Given the description of an element on the screen output the (x, y) to click on. 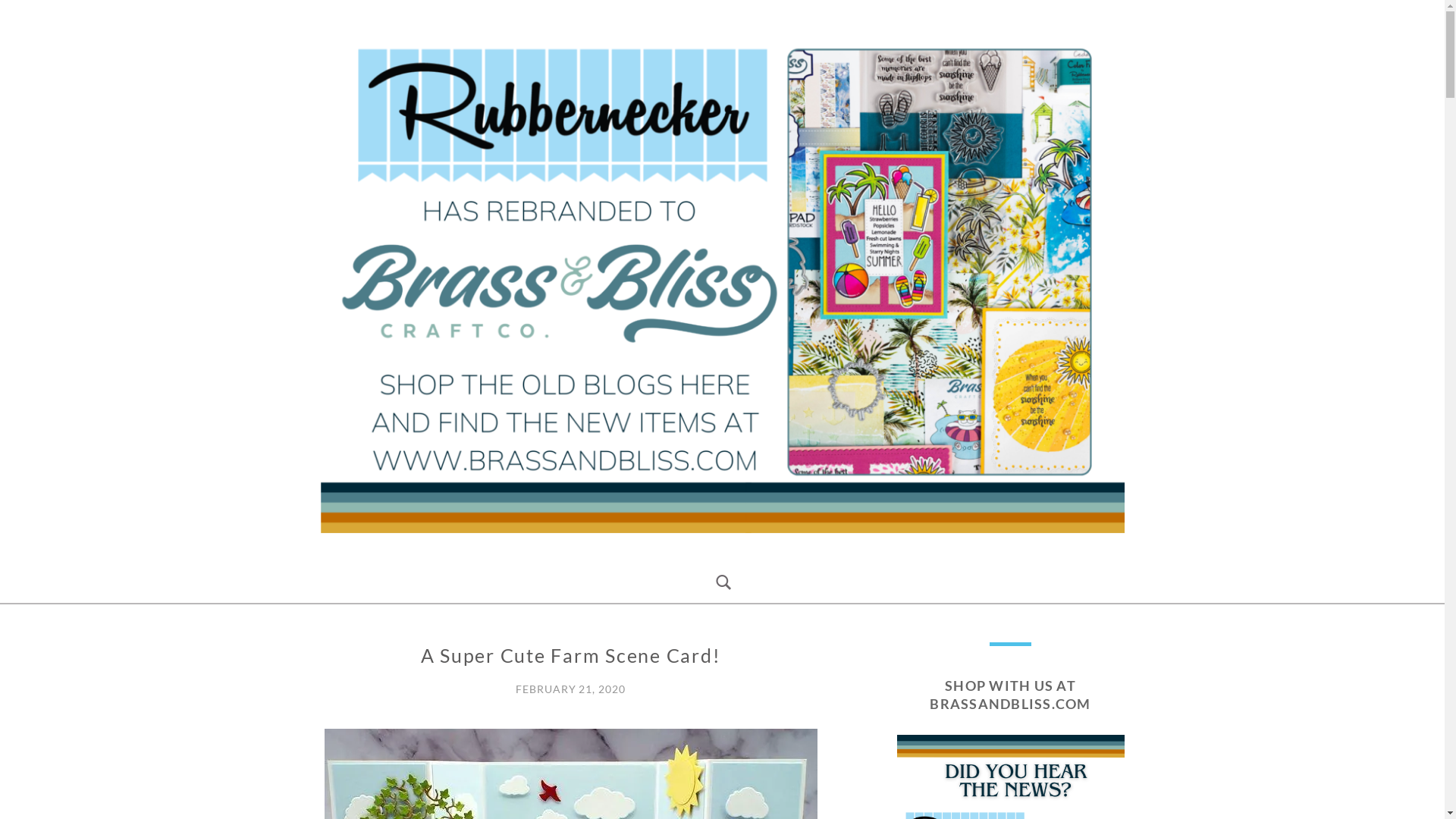
KITTIE CARACCIOLO (364, 660)
RUBBERNECKER BLOG (499, 553)
FEBRUARY 21, 2020 (570, 688)
